Given the description of an element on the screen output the (x, y) to click on. 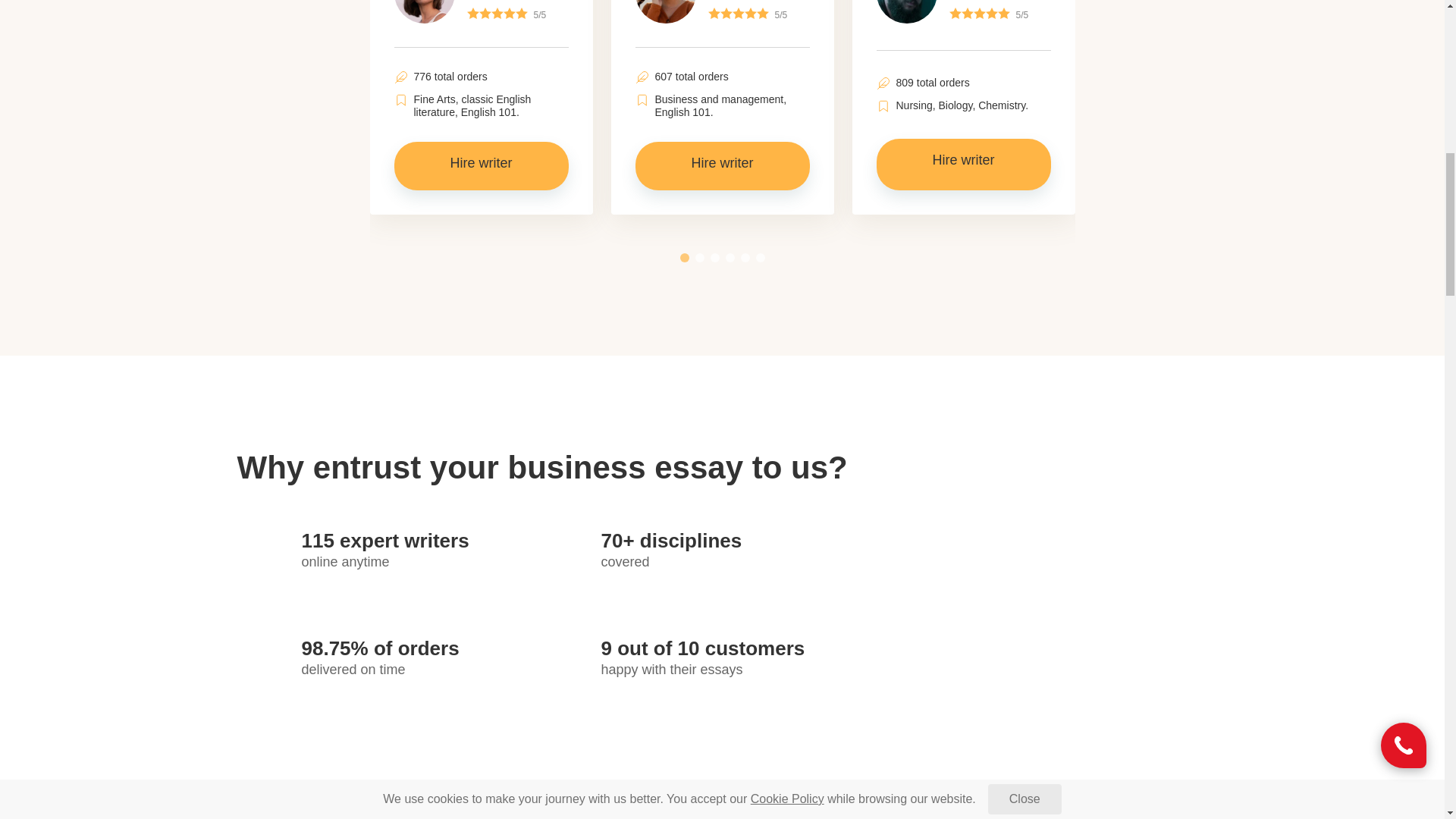
Hire writer (721, 165)
Hire writer (963, 164)
Hire writer (481, 165)
